Given the description of an element on the screen output the (x, y) to click on. 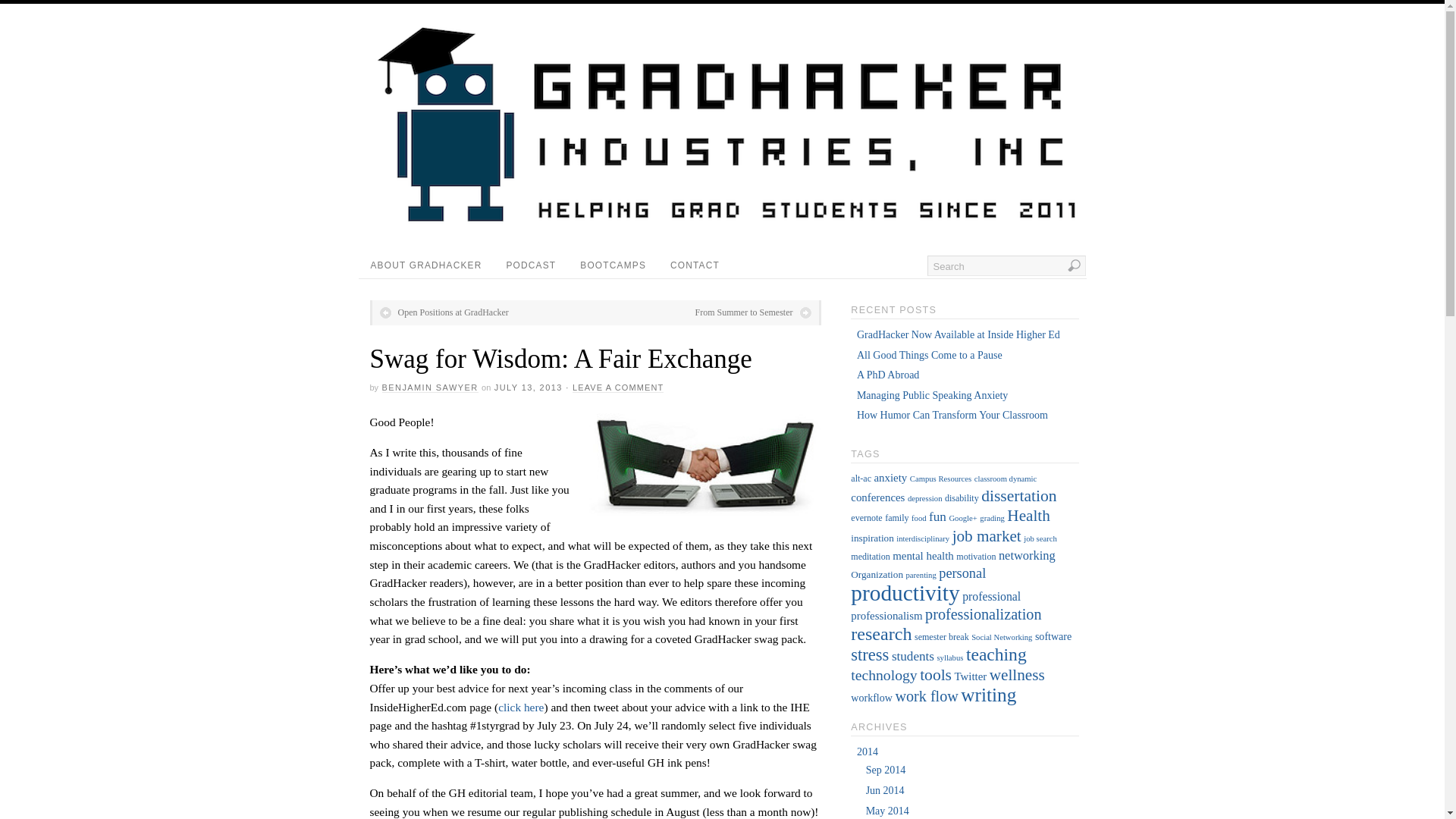
depression (924, 498)
BENJAMIN SAWYER (430, 388)
From Summer to Semester (752, 312)
How Humor Can Transform Your Classroom (952, 414)
ABOUT GRADHACKER (425, 265)
Search (1005, 265)
conferences (877, 497)
Search (1005, 265)
PODCAST (532, 265)
GradHacker (726, 225)
